Given the description of an element on the screen output the (x, y) to click on. 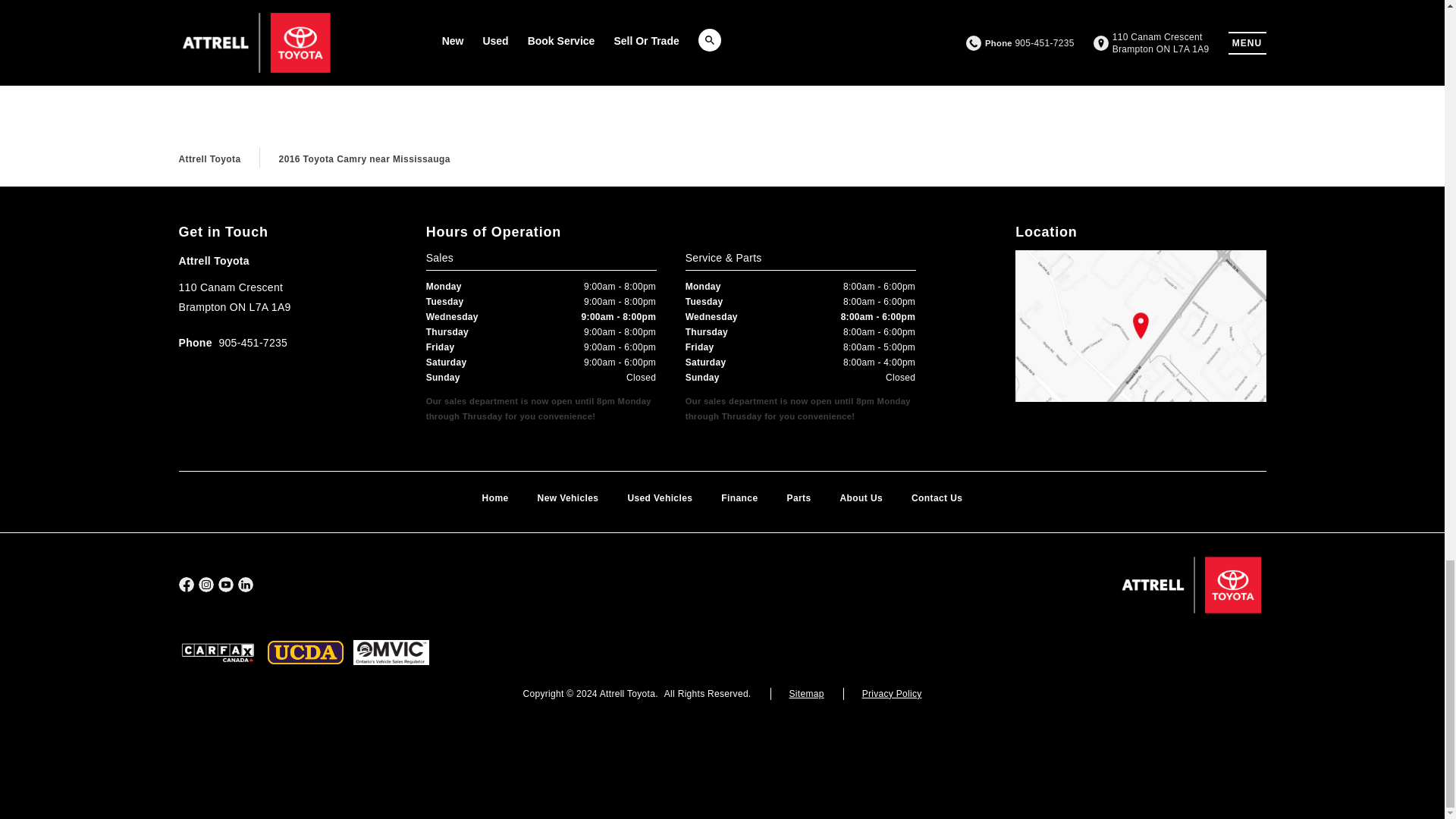
Location Image Map (1139, 326)
Go to Attrell Toyota. (210, 158)
Powered by EDealer (721, 747)
Sitemap (806, 694)
Call 905-451-7235 (233, 343)
Privacy Policy (891, 694)
Contact Attrell Toyota (583, 4)
